Given the description of an element on the screen output the (x, y) to click on. 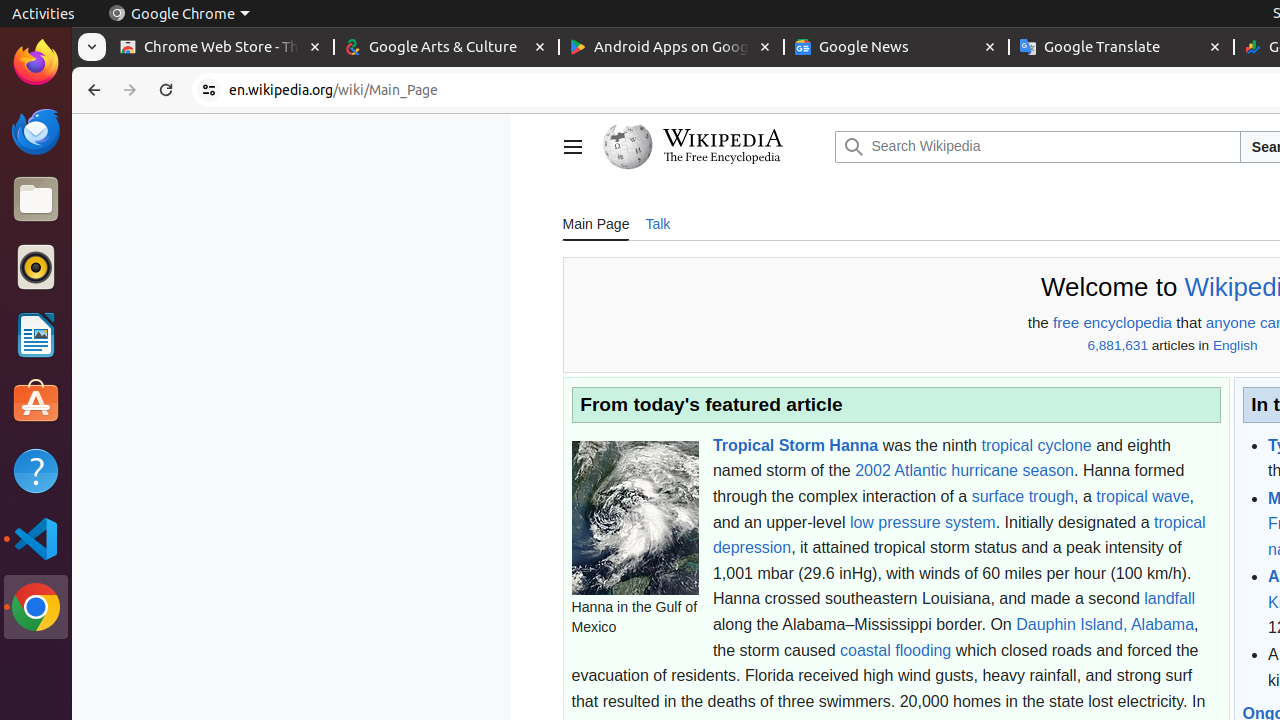
tropical cyclone Element type: link (1036, 444)
Talk Element type: link (658, 223)
Main menu Element type: push-button (572, 147)
6,881,631 Element type: link (1117, 346)
Ubuntu Software Element type: push-button (36, 402)
